Given the description of an element on the screen output the (x, y) to click on. 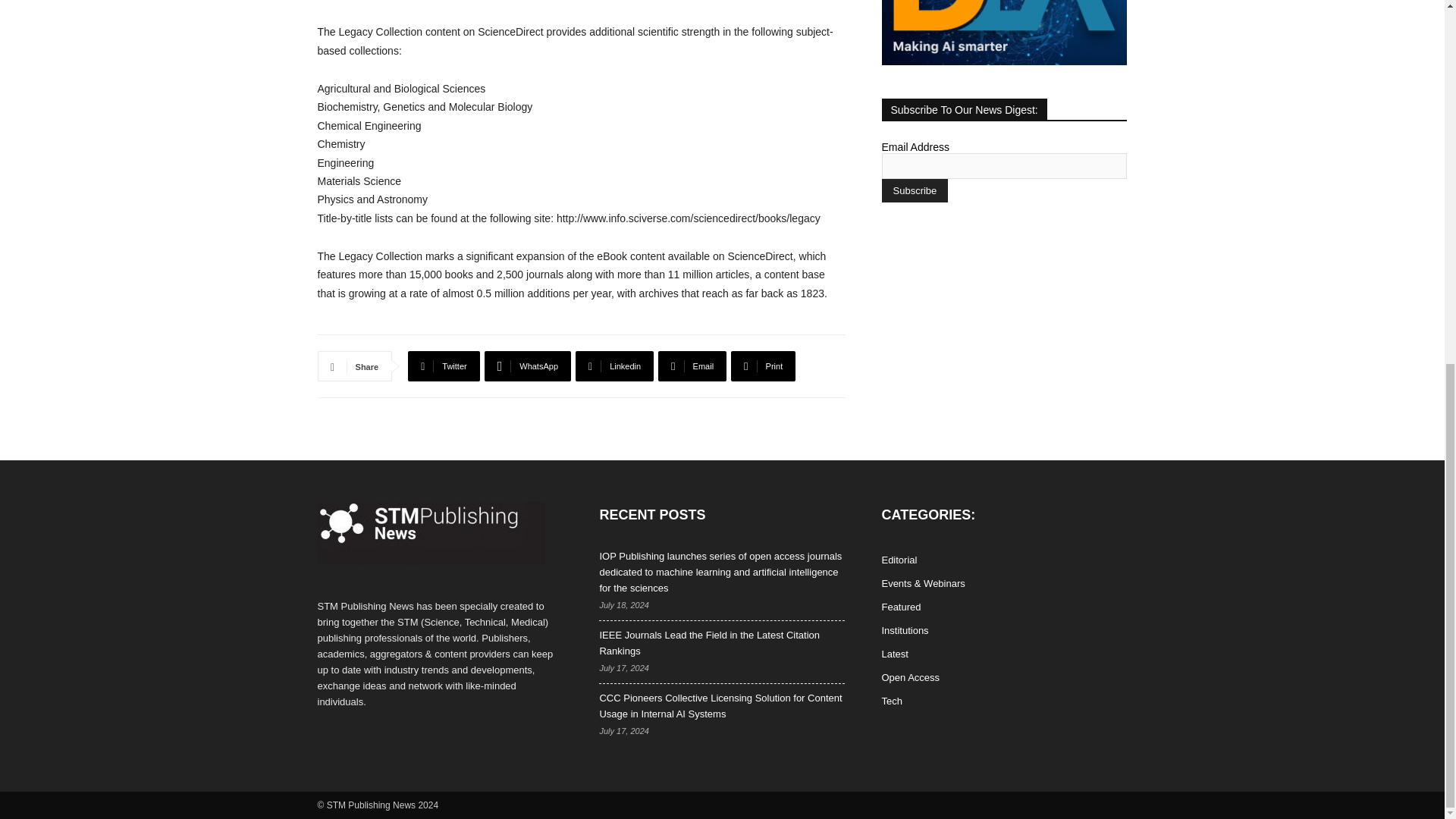
Subscribe (913, 190)
